Given the description of an element on the screen output the (x, y) to click on. 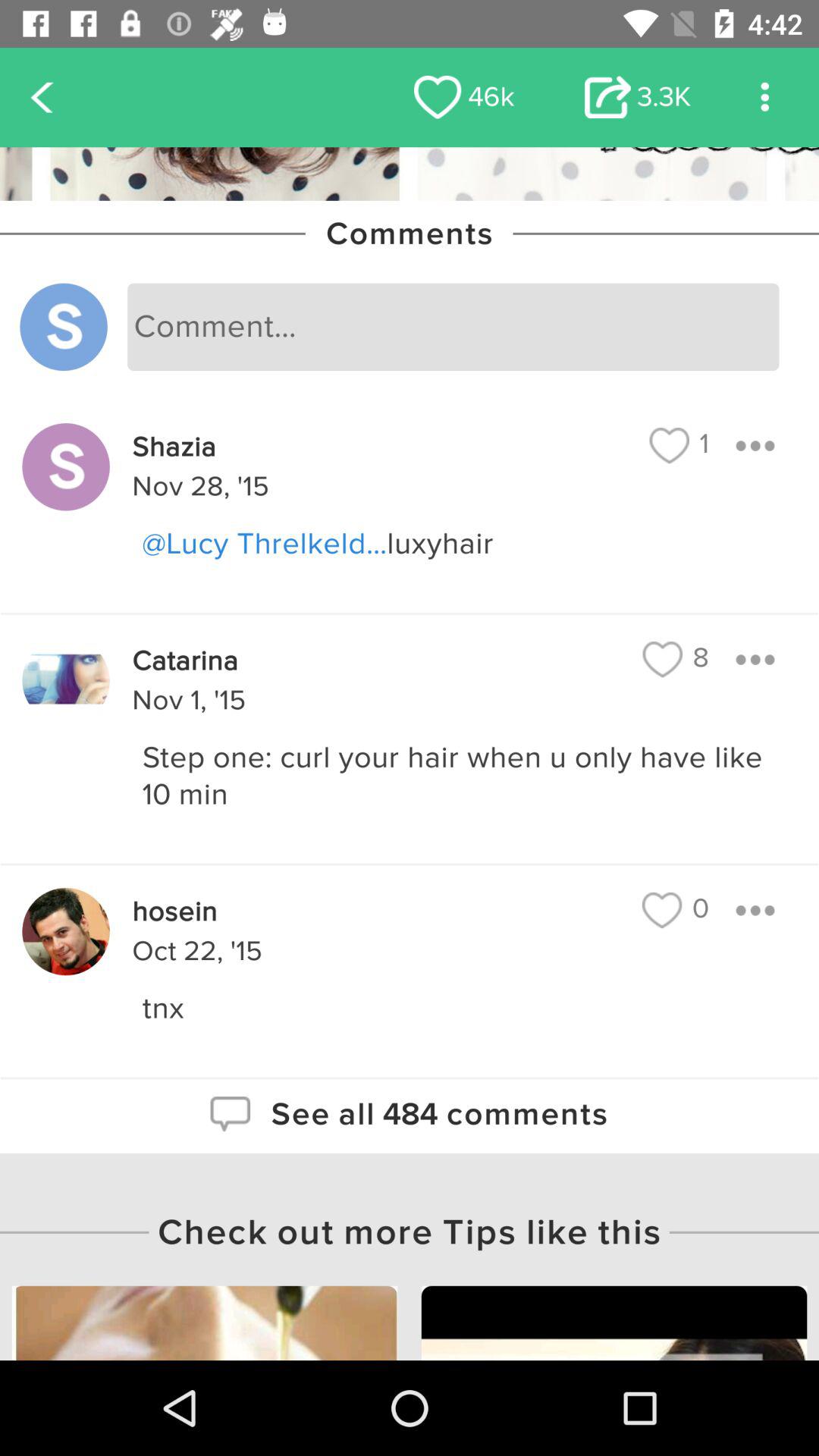
open menu (755, 659)
